Given the description of an element on the screen output the (x, y) to click on. 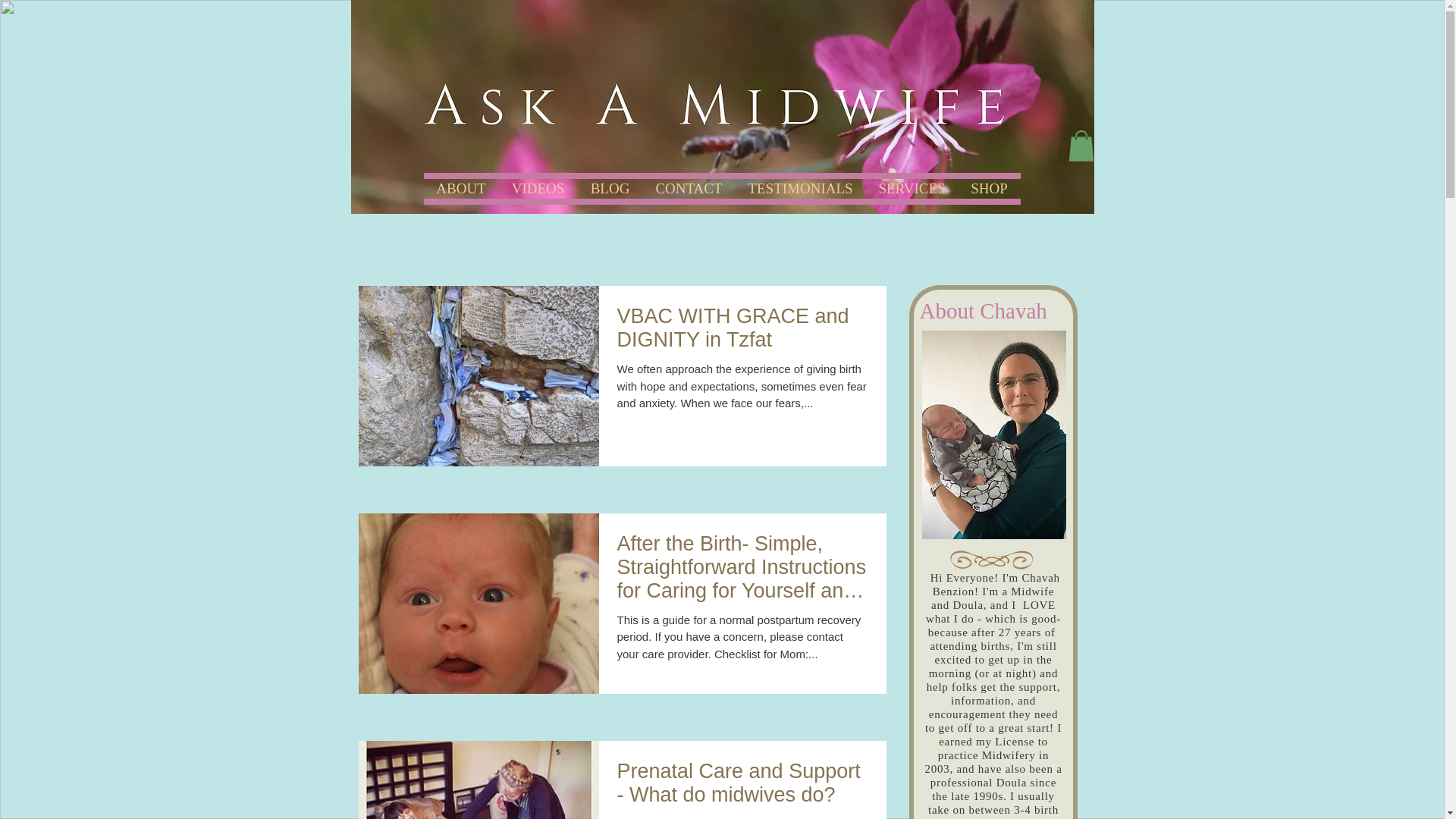
VIDEOS (538, 185)
VBAC WITH GRACE and DIGNITY in Tzfat (742, 332)
chavah profile pic.jpg (993, 434)
SHOP (989, 185)
Prenatal Care and Support - What do midwives do? (742, 786)
ABOUT (460, 185)
SERVICES (912, 185)
BLOG (610, 185)
CONTACT (689, 185)
TESTIMONIALS (800, 185)
